Given the description of an element on the screen output the (x, y) to click on. 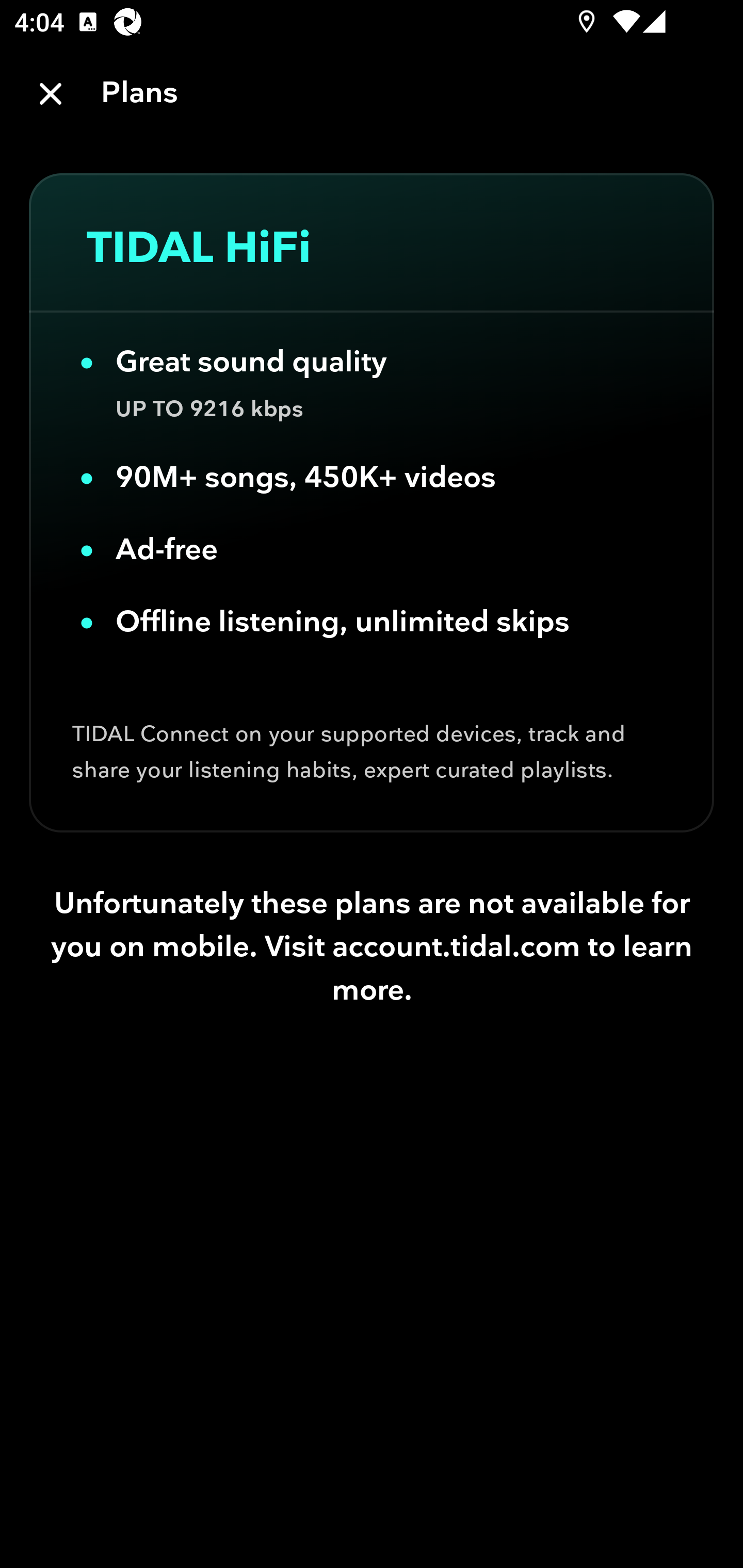
Close (50, 93)
